Given the description of an element on the screen output the (x, y) to click on. 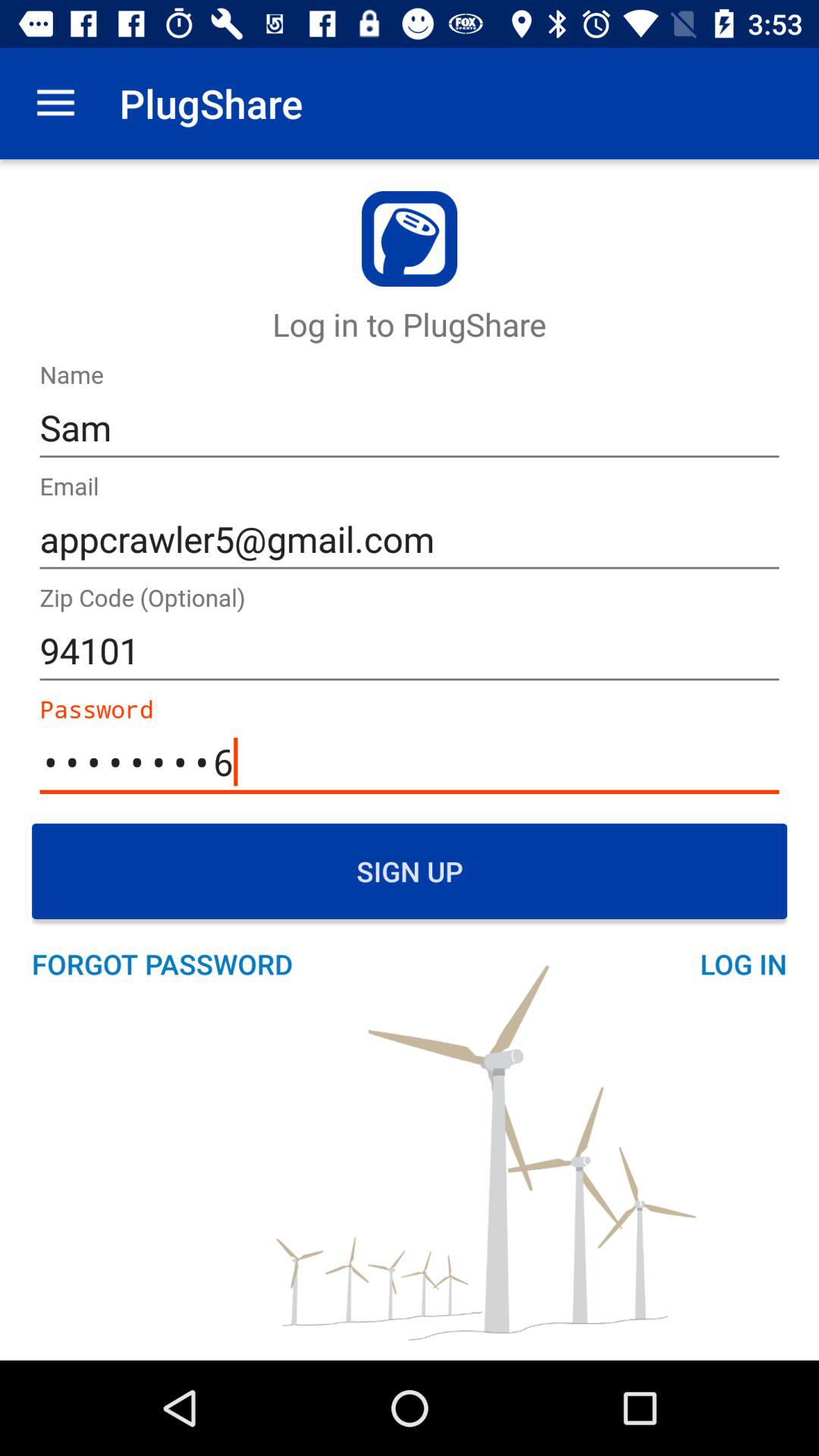
choose sam icon (409, 428)
